Given the description of an element on the screen output the (x, y) to click on. 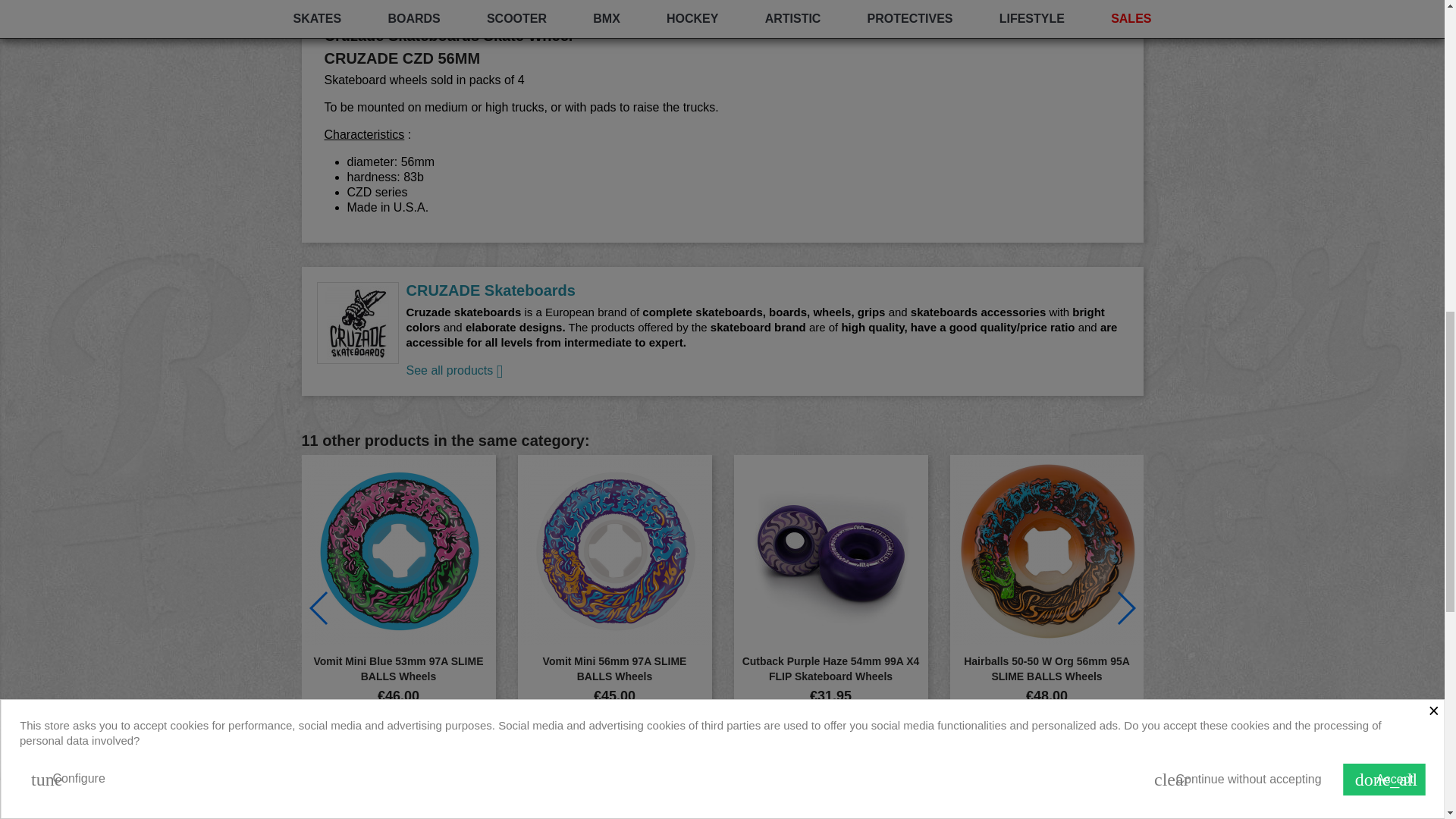
Subscribe (1090, 811)
CRUZADE Skateboards (357, 322)
